Given the description of an element on the screen output the (x, y) to click on. 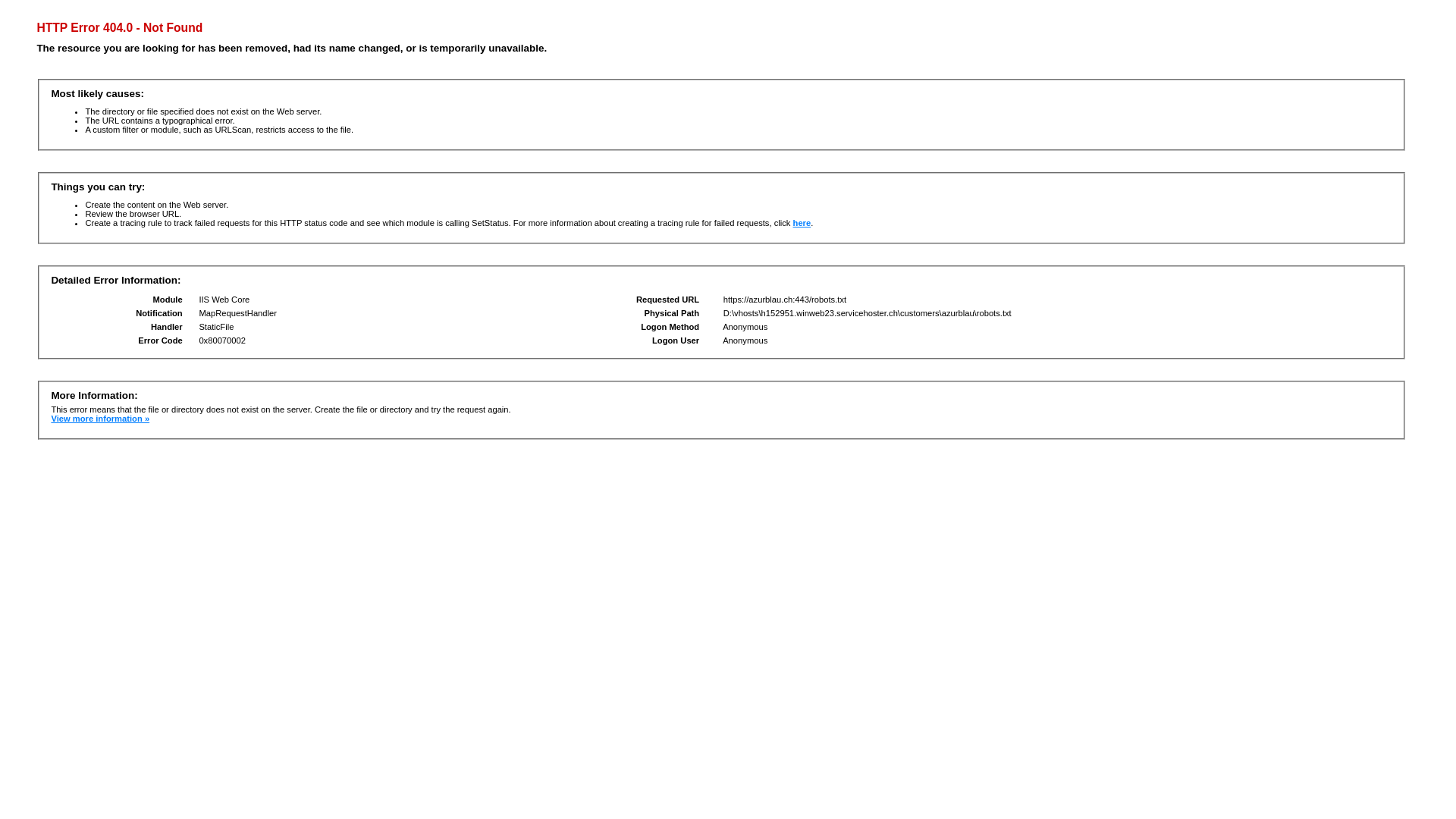
here Element type: text (802, 222)
